Given the description of an element on the screen output the (x, y) to click on. 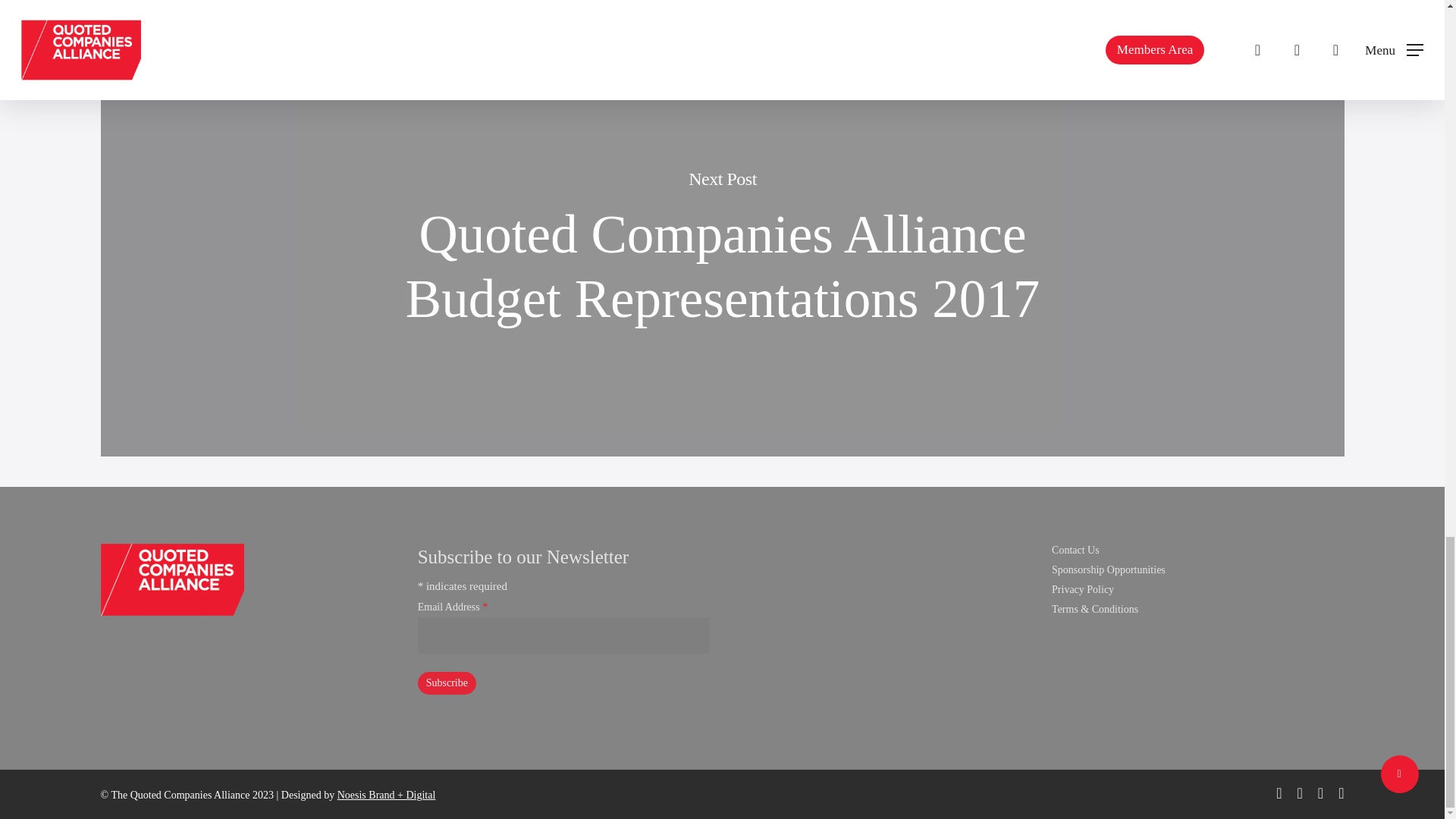
linkedin (1300, 793)
spotify (1340, 793)
twitter (1278, 793)
Subscribe (446, 682)
youtube (1320, 793)
Privacy Policy (1197, 590)
Contact Us (1197, 550)
Subscribe (446, 682)
Quoted Companies Alliance Budget Representations 2017 (722, 267)
Sponsorship Opportunities (1197, 570)
